Given the description of an element on the screen output the (x, y) to click on. 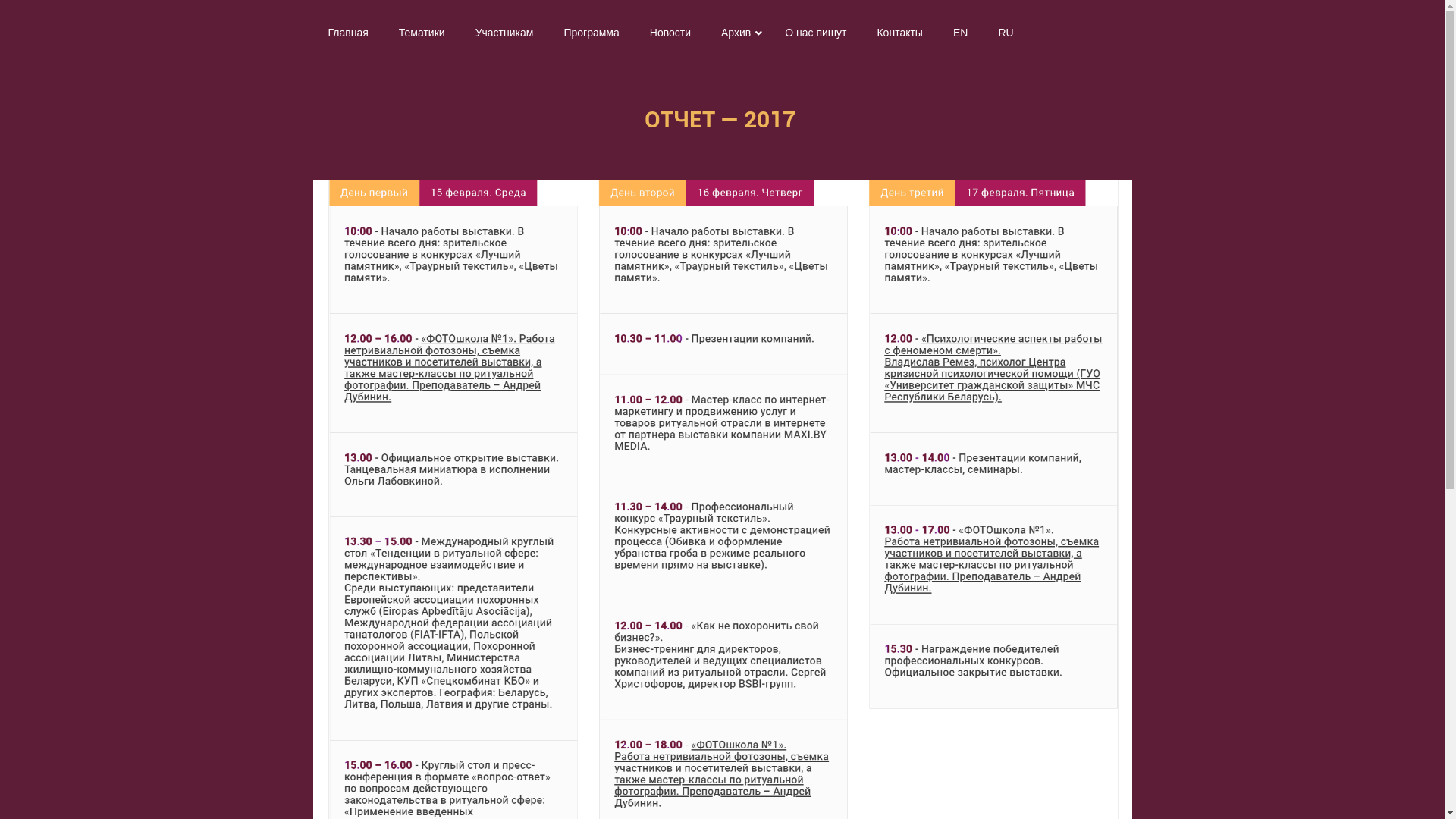
EN Element type: text (960, 32)
RU Element type: text (1005, 32)
